Given the description of an element on the screen output the (x, y) to click on. 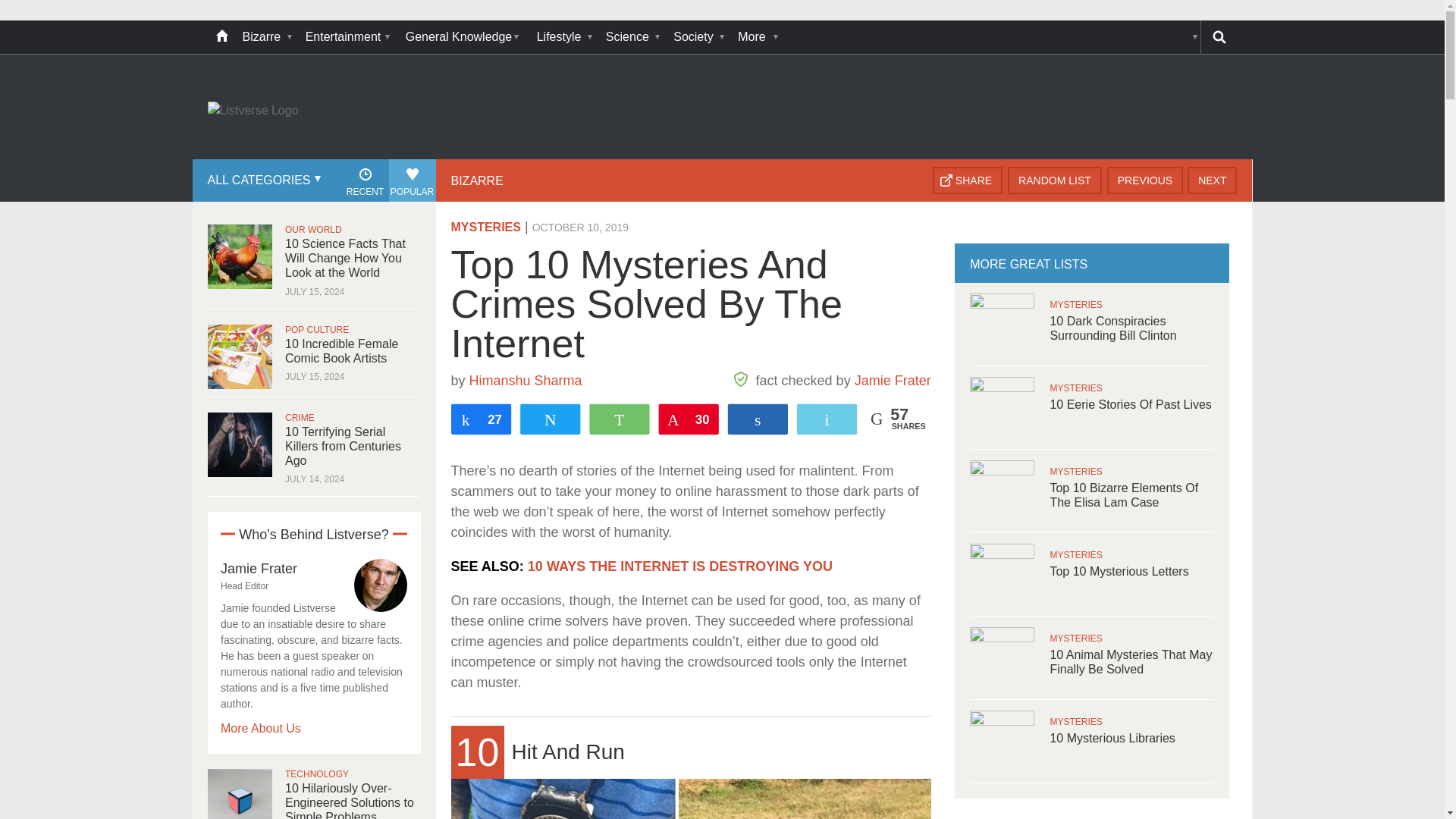
General Knowledge (462, 37)
Popular (411, 179)
Society (697, 37)
All Categories (262, 179)
Lifestyle (563, 37)
More (756, 37)
Entertainment (347, 37)
Science (631, 37)
Bizarre (266, 37)
Share (968, 180)
Go to Home (253, 110)
Recent (364, 179)
